Given the description of an element on the screen output the (x, y) to click on. 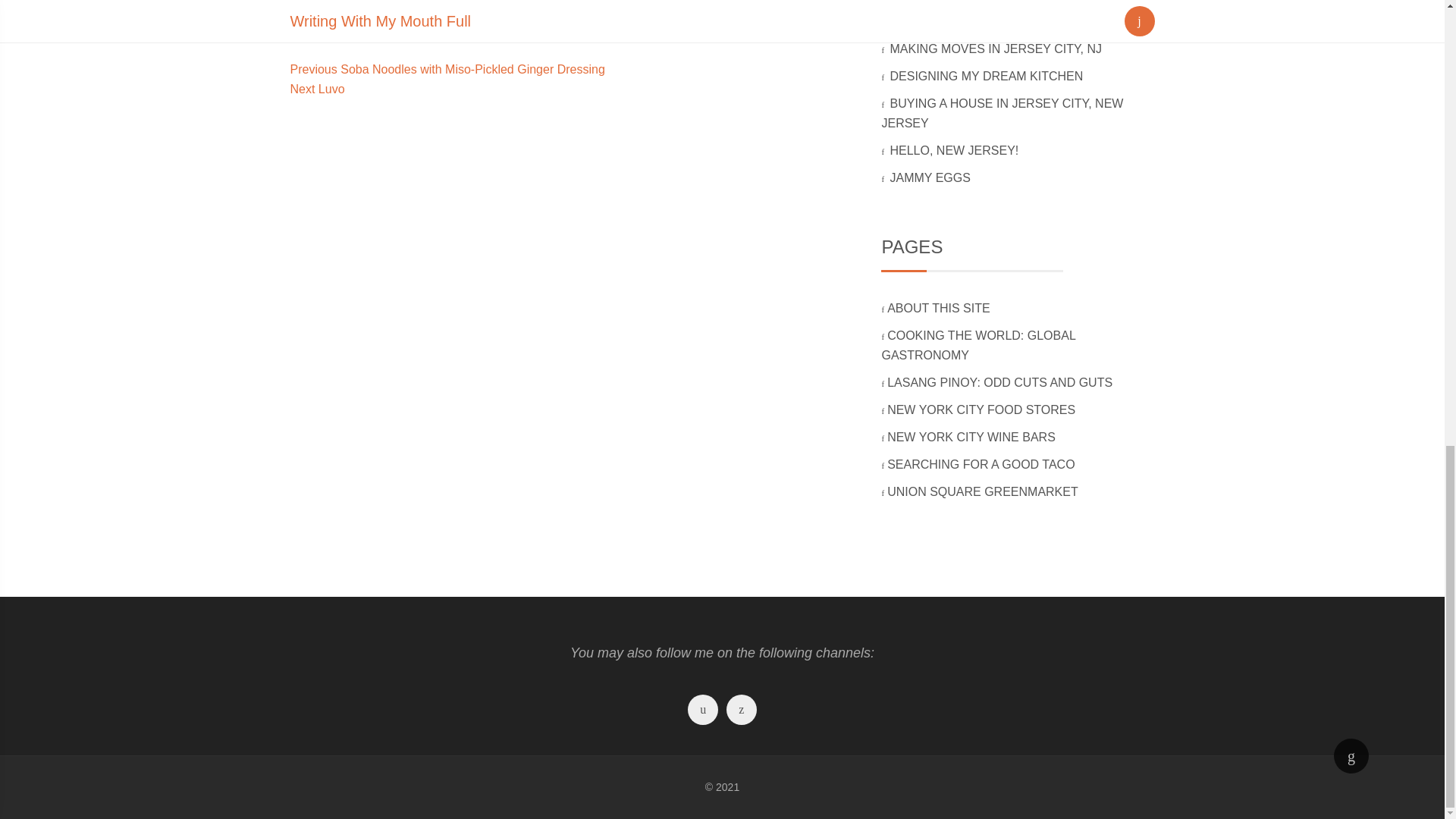
To top (1350, 755)
LASANG PINOY: ODD CUTS AND GUTS (1000, 382)
JAMMY EGGS (930, 177)
Linkedin (740, 711)
SEARCHING FOR A GOOD TACO (981, 463)
HELLO, NEW JERSEY! (954, 150)
ABOUT THIS SITE (938, 308)
MAKING MOVES IN JERSEY CITY, NJ (996, 48)
NEW YORK CITY FOOD STORES (981, 409)
NEW YORK CITY WINE BARS (972, 436)
BUYING A HOUSE IN JERSEY CITY, NEW JERSEY (1001, 113)
To top (1350, 755)
Linkedin (740, 711)
Instagram (702, 711)
